Given the description of an element on the screen output the (x, y) to click on. 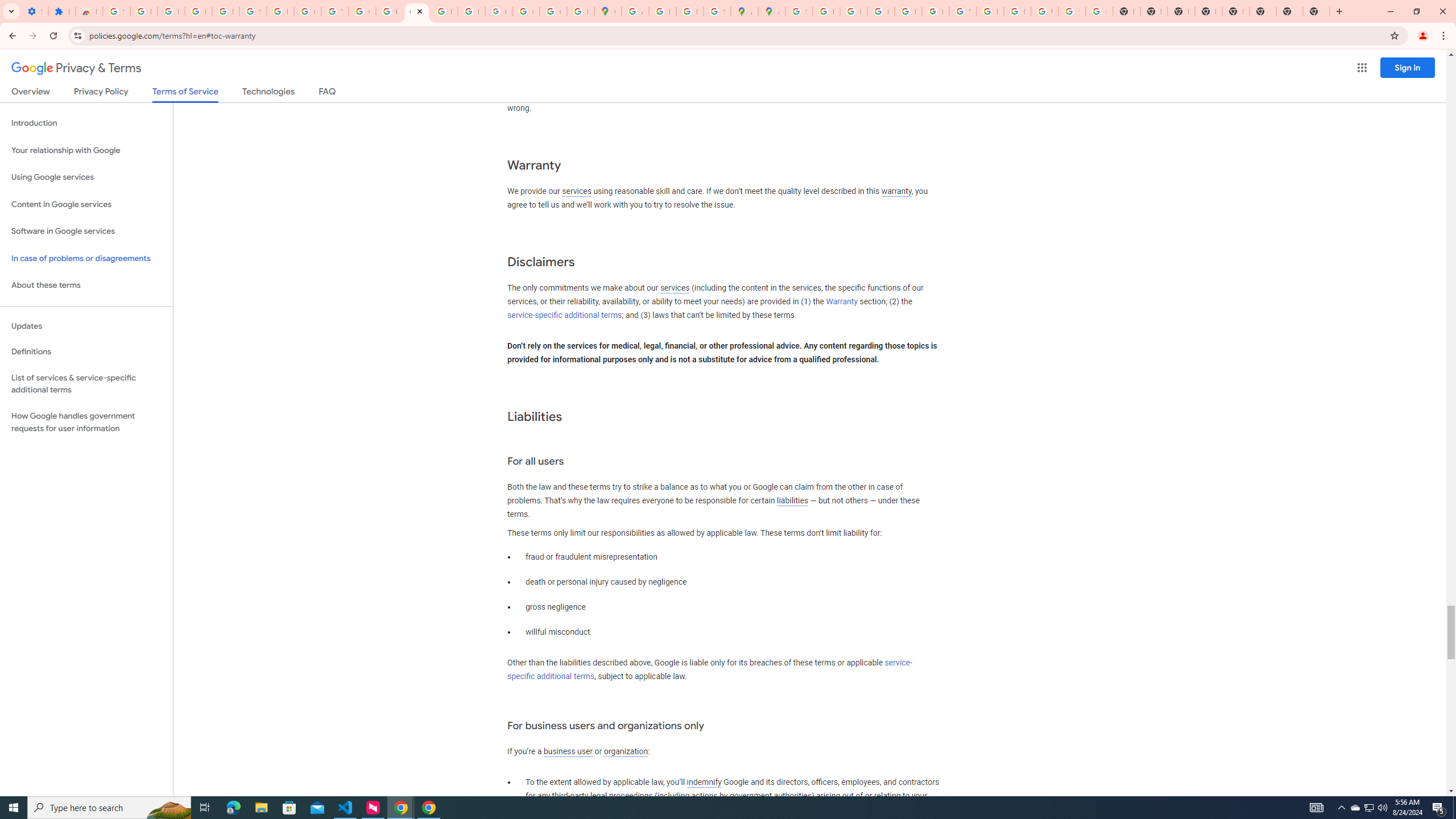
Technologies (268, 93)
Warranty (841, 301)
Content in Google services (86, 204)
Extensions (61, 11)
liabilities (792, 500)
service-specific additional terms (709, 669)
Browse Chrome as a guest - Computer - Google Chrome Help (990, 11)
Your relationship with Google (86, 150)
Sign in - Google Accounts (799, 11)
